Given the description of an element on the screen output the (x, y) to click on. 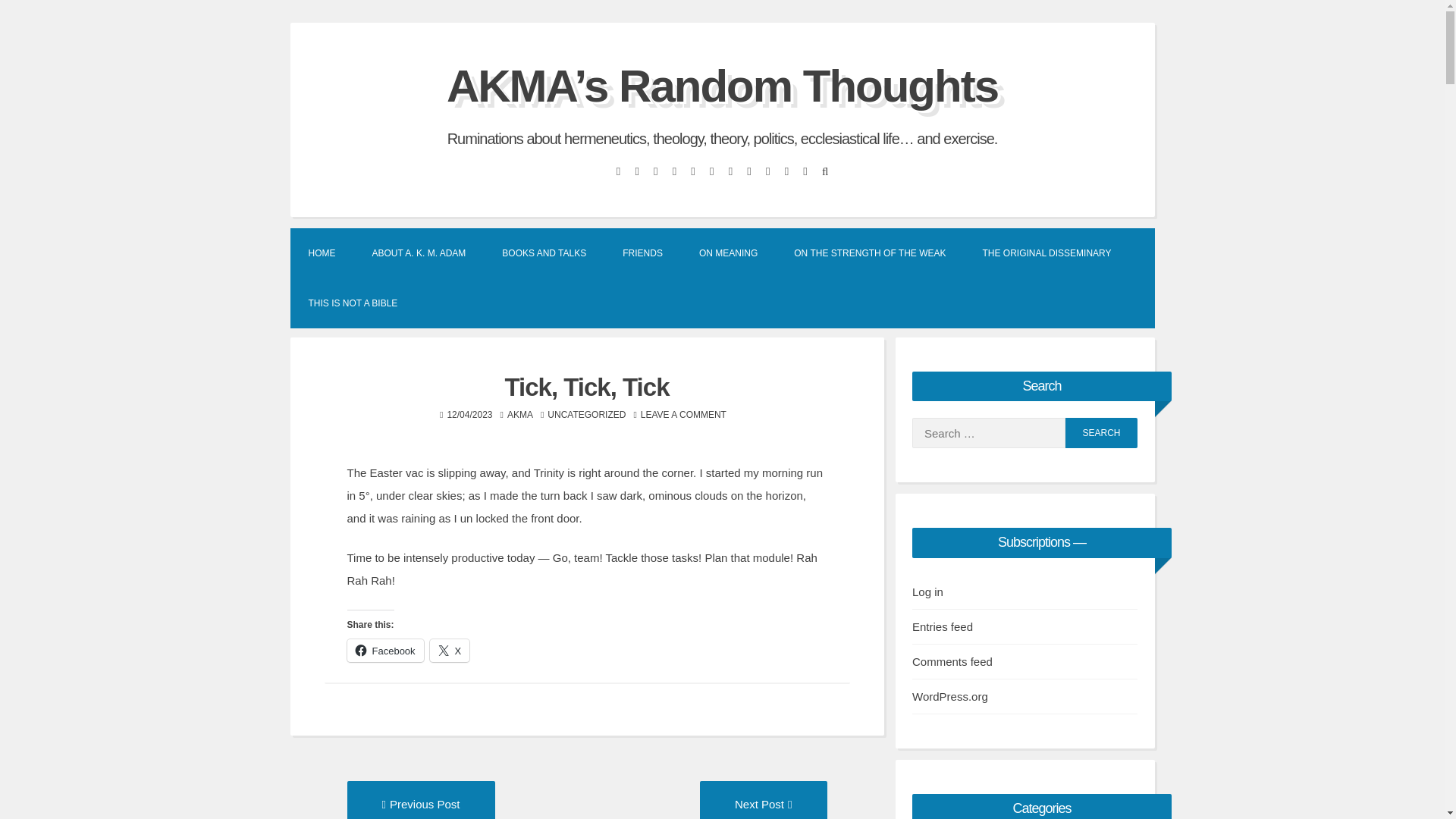
Search (1101, 432)
FRIENDS (642, 252)
UNCATEGORIZED (586, 414)
Search (1101, 432)
HOME (321, 252)
ON MEANING (728, 252)
Entries feed (942, 626)
Log in (927, 591)
LEAVE A COMMENT (683, 414)
THE ORIGINAL DISSEMINARY (763, 803)
Facebook (1046, 252)
Comments feed (385, 650)
Like EEAAO (952, 661)
